Given the description of an element on the screen output the (x, y) to click on. 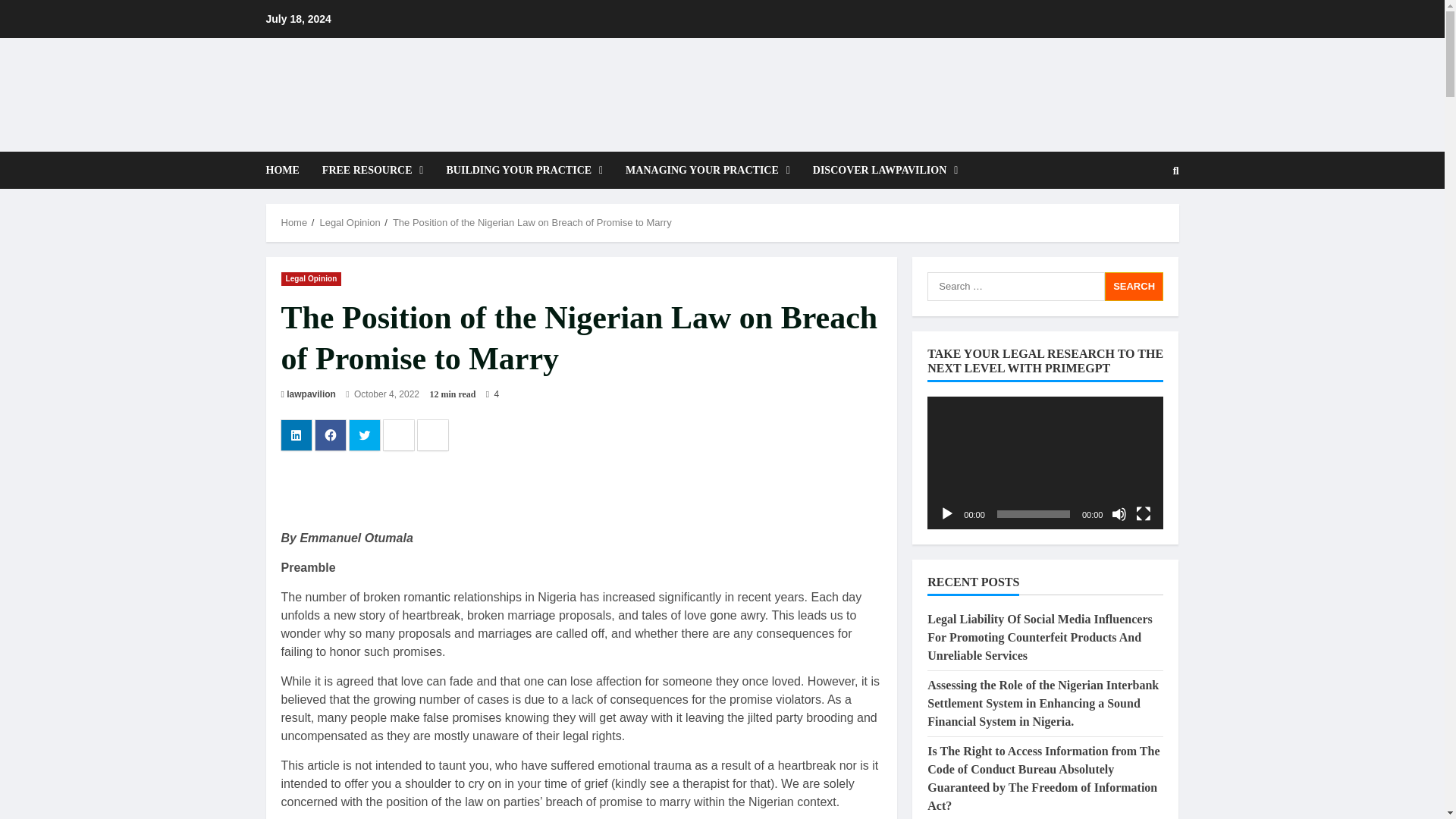
BUILDING YOUR PRACTICE (523, 170)
Search (1134, 285)
Legal Opinion (349, 222)
Search (1176, 170)
Click to share on Facebook (330, 435)
FREE RESOURCE (373, 170)
4 (492, 394)
Click to email a link to a friend (398, 435)
DISCOVER LAWPAVILION (880, 170)
Legal Opinion (310, 278)
lawpavilion (311, 394)
Home (294, 222)
Click to share on Twitter (363, 435)
Search (1139, 222)
